Given the description of an element on the screen output the (x, y) to click on. 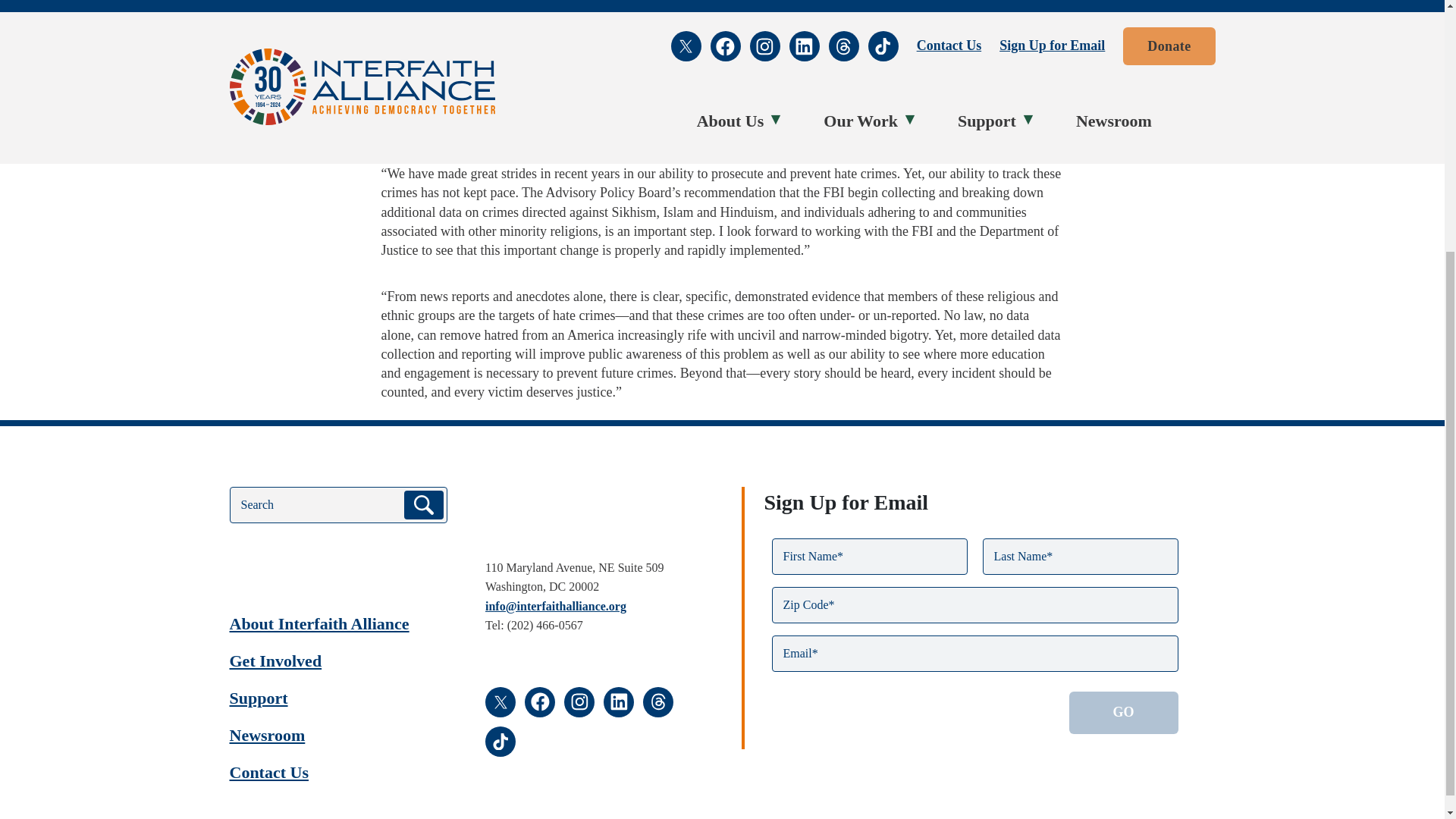
Go (1122, 712)
